Given the description of an element on the screen output the (x, y) to click on. 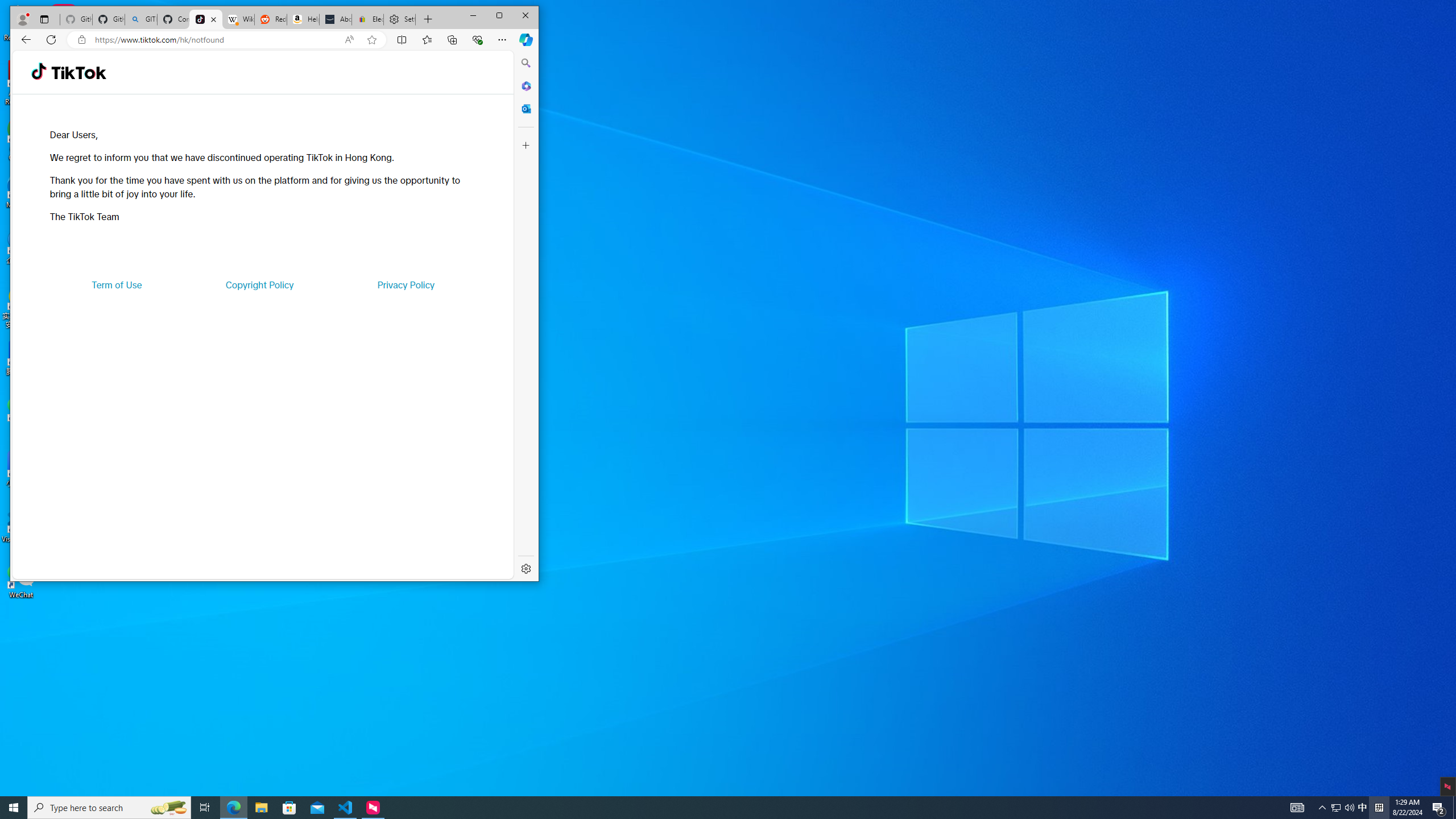
Show desktop (1454, 807)
Action Center, 2 new notifications (1439, 807)
